Given the description of an element on the screen output the (x, y) to click on. 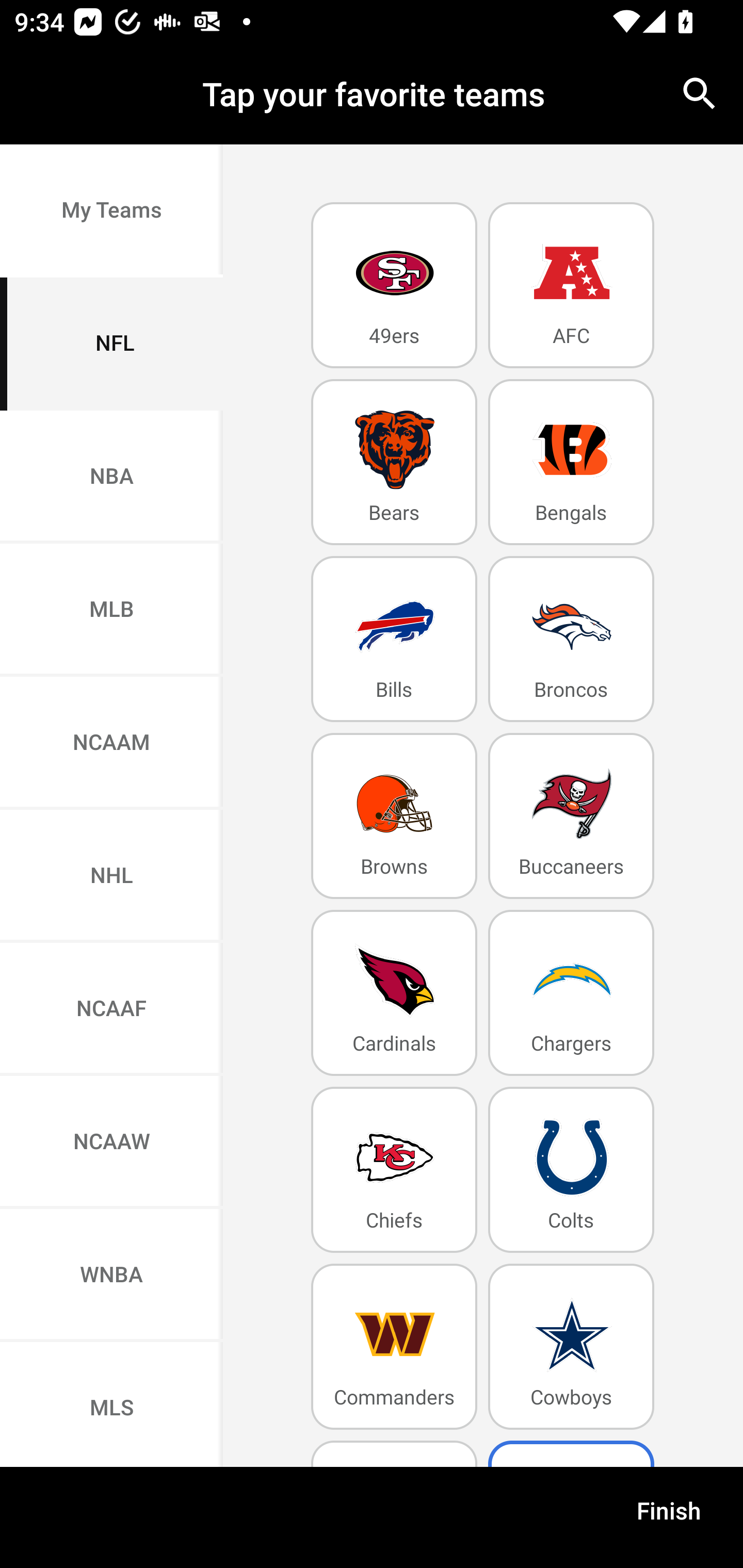
search (699, 93)
My Teams (111, 210)
49ers (394, 285)
AFC (571, 285)
NFL (111, 343)
Bears (394, 462)
Bengals (571, 462)
NBA (111, 477)
MLB (111, 610)
Bills (394, 639)
Broncos (571, 639)
NCAAM (111, 743)
Browns (394, 815)
Buccaneers (571, 815)
NHL (111, 876)
Cardinals (394, 992)
Chargers (571, 992)
NCAAF (111, 1009)
NCAAW (111, 1141)
Chiefs (394, 1169)
Colts (571, 1169)
WNBA (111, 1275)
Commanders (394, 1346)
Cowboys (571, 1346)
MLS (111, 1404)
Finish Finish and Close (669, 1517)
